Given the description of an element on the screen output the (x, y) to click on. 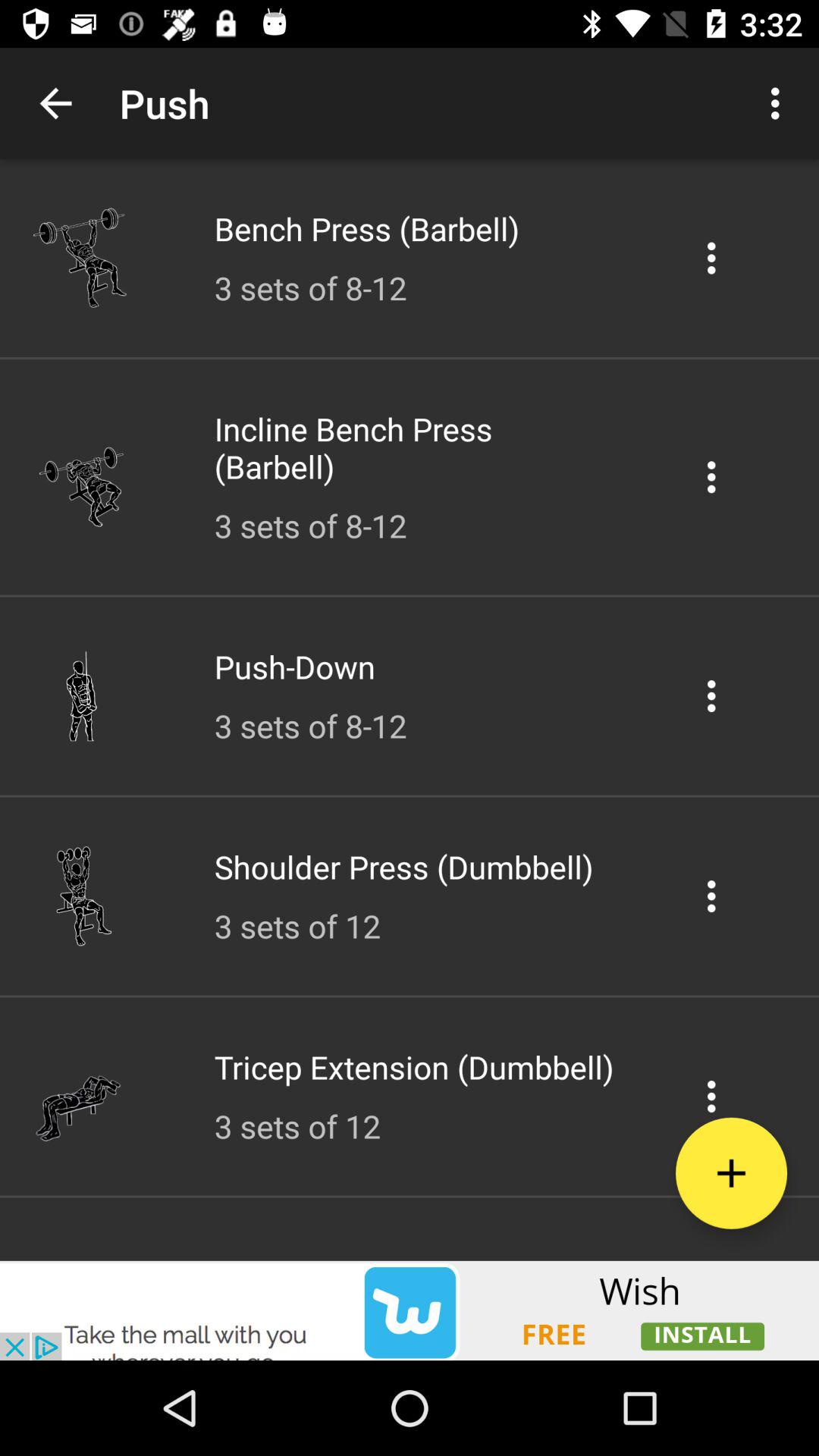
push down options (711, 696)
